Given the description of an element on the screen output the (x, y) to click on. 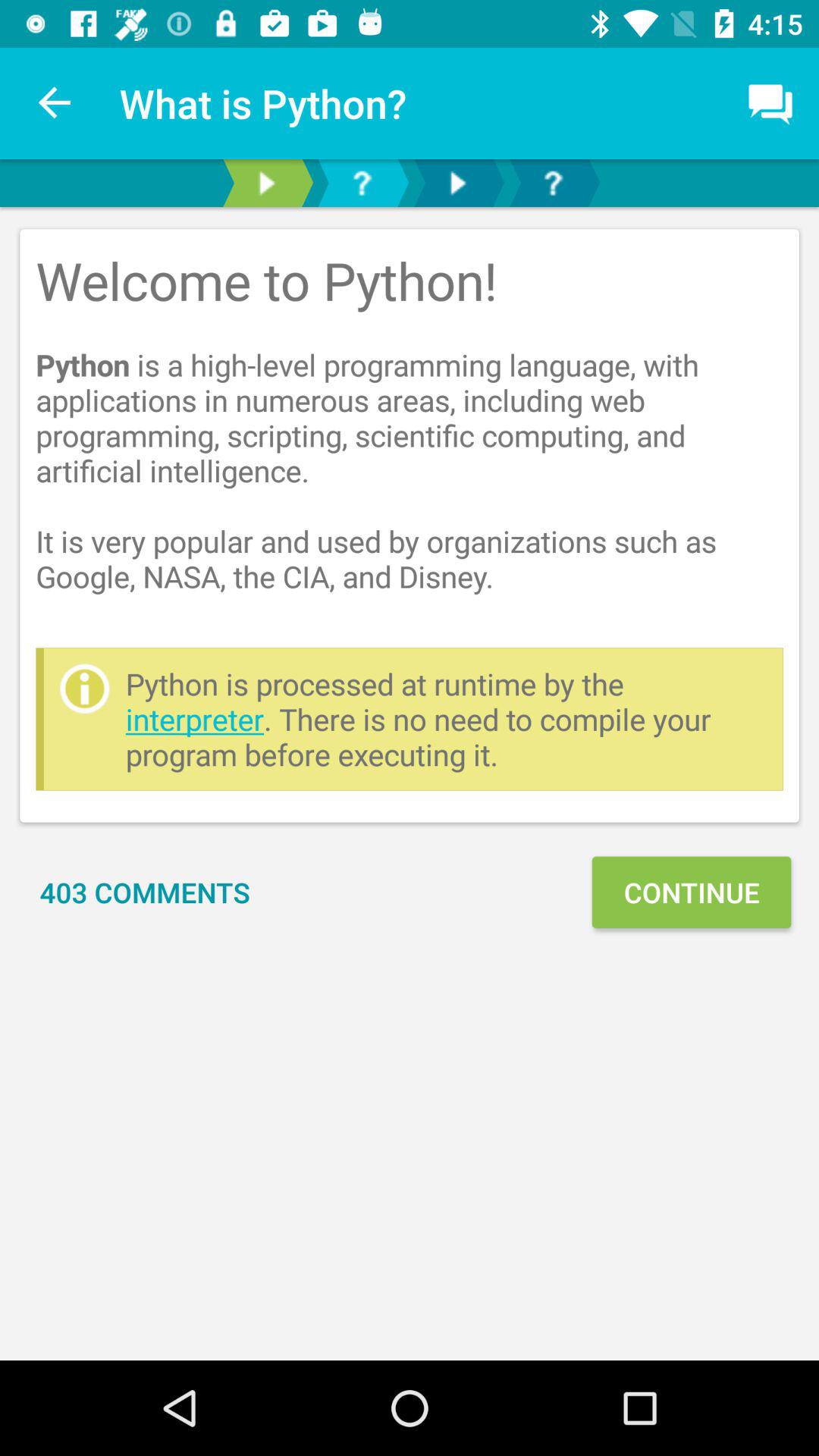
get help (552, 183)
